Given the description of an element on the screen output the (x, y) to click on. 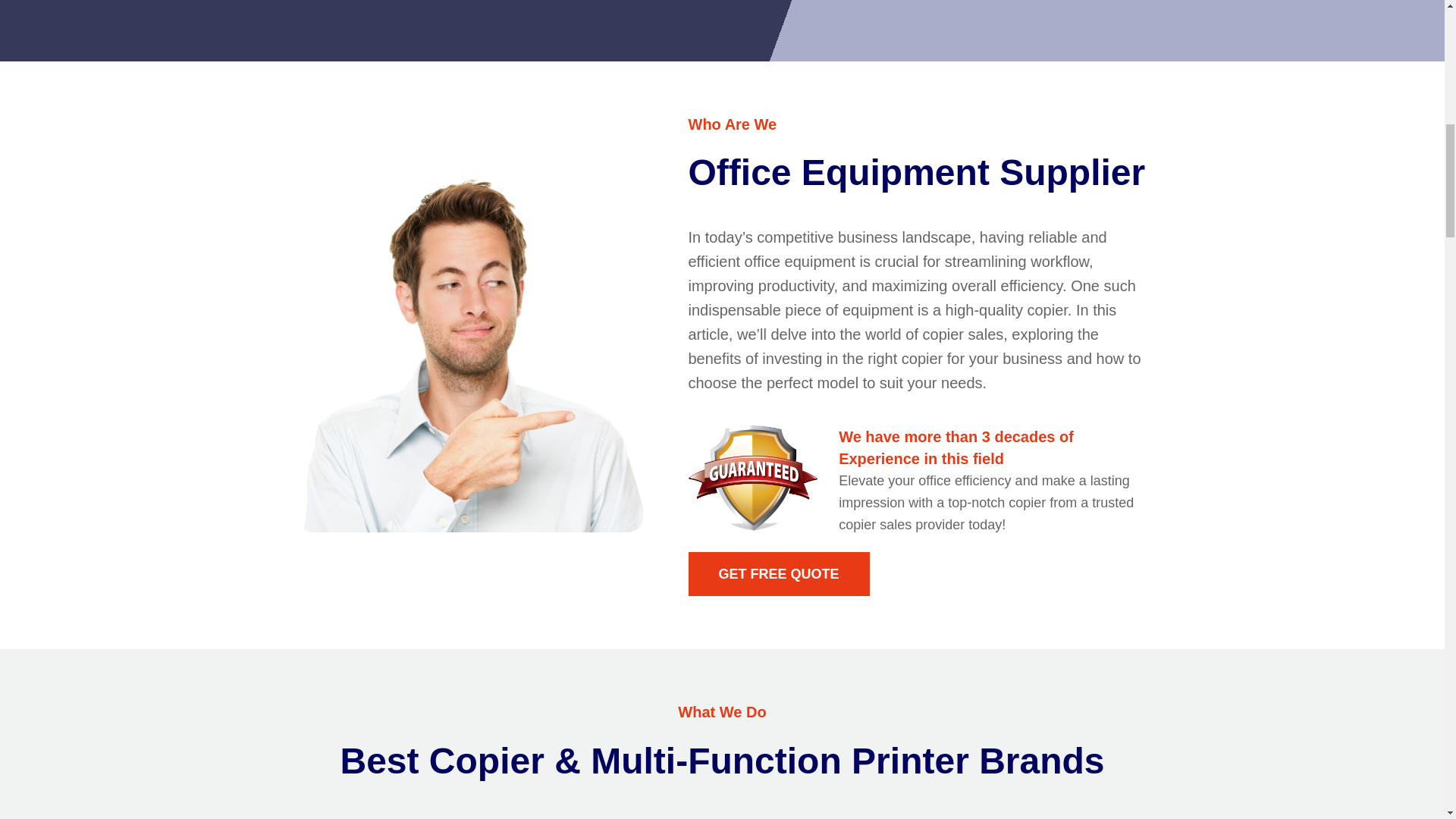
GET FREE QUOTE (778, 574)
